Given the description of an element on the screen output the (x, y) to click on. 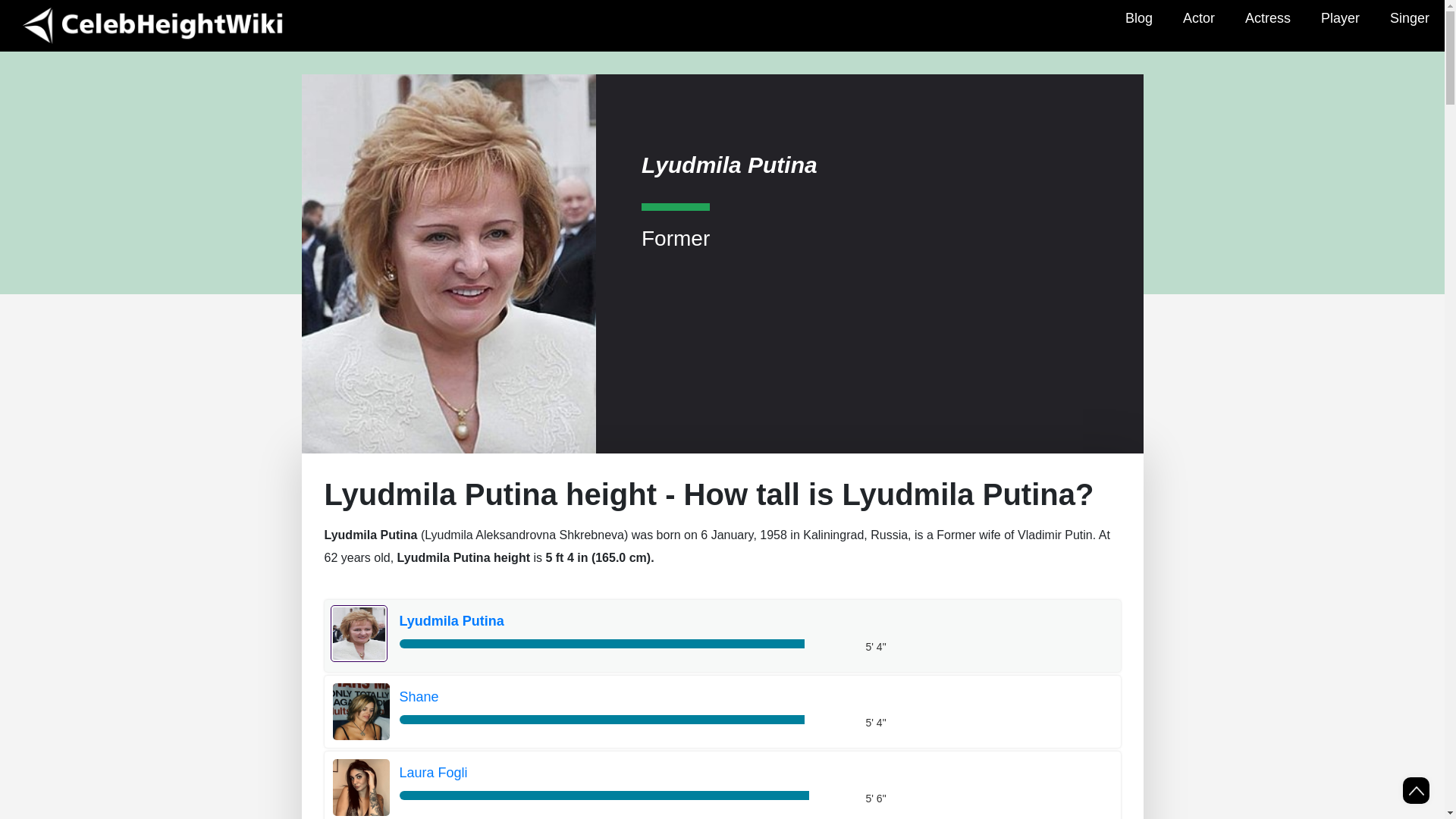
Lyudmila Putina Compare (623, 621)
Shane Compare (623, 697)
Laura Fogli Compare (623, 773)
Lyudmila Putina Compare (359, 633)
Former (676, 225)
Actress (1268, 18)
Blog (1138, 18)
Lyudmila Putina (623, 621)
Laura Fogli (623, 773)
Shane (623, 697)
Player (1340, 18)
Actor (1198, 18)
Shane Compare (359, 709)
Laura Fogli Compare (359, 785)
